Given the description of an element on the screen output the (x, y) to click on. 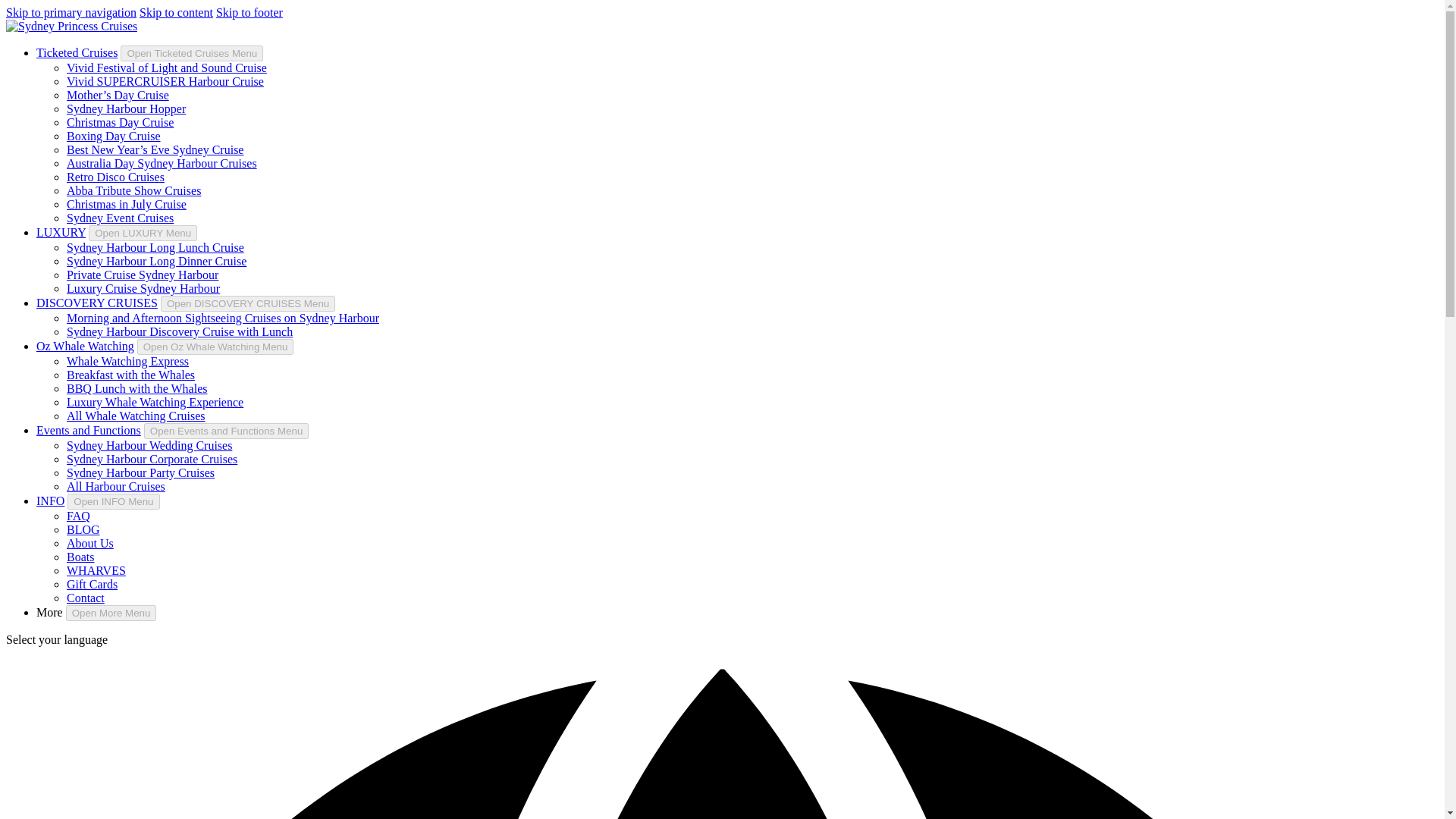
Sydney Harbour Long Lunch Cruise (155, 246)
Oz Whale Watching (84, 345)
LUXURY (60, 232)
Breakfast with the Whales (130, 374)
Luxury Cruise Sydney Harbour (142, 287)
Vivid SUPERCRUISER Harbour Cruise (164, 81)
Skip to content (175, 11)
Open Oz Whale Watching Menu (215, 346)
Sydney Harbour Hopper (126, 108)
Retro Disco Cruises (115, 176)
Luxury Whale Watching Experience (154, 401)
Whale Watching Express (127, 360)
Sydney Event Cruises (119, 217)
Private Cruise Sydney Harbour (142, 274)
Sydney Harbour Corporate Cruises (151, 459)
